Given the description of an element on the screen output the (x, y) to click on. 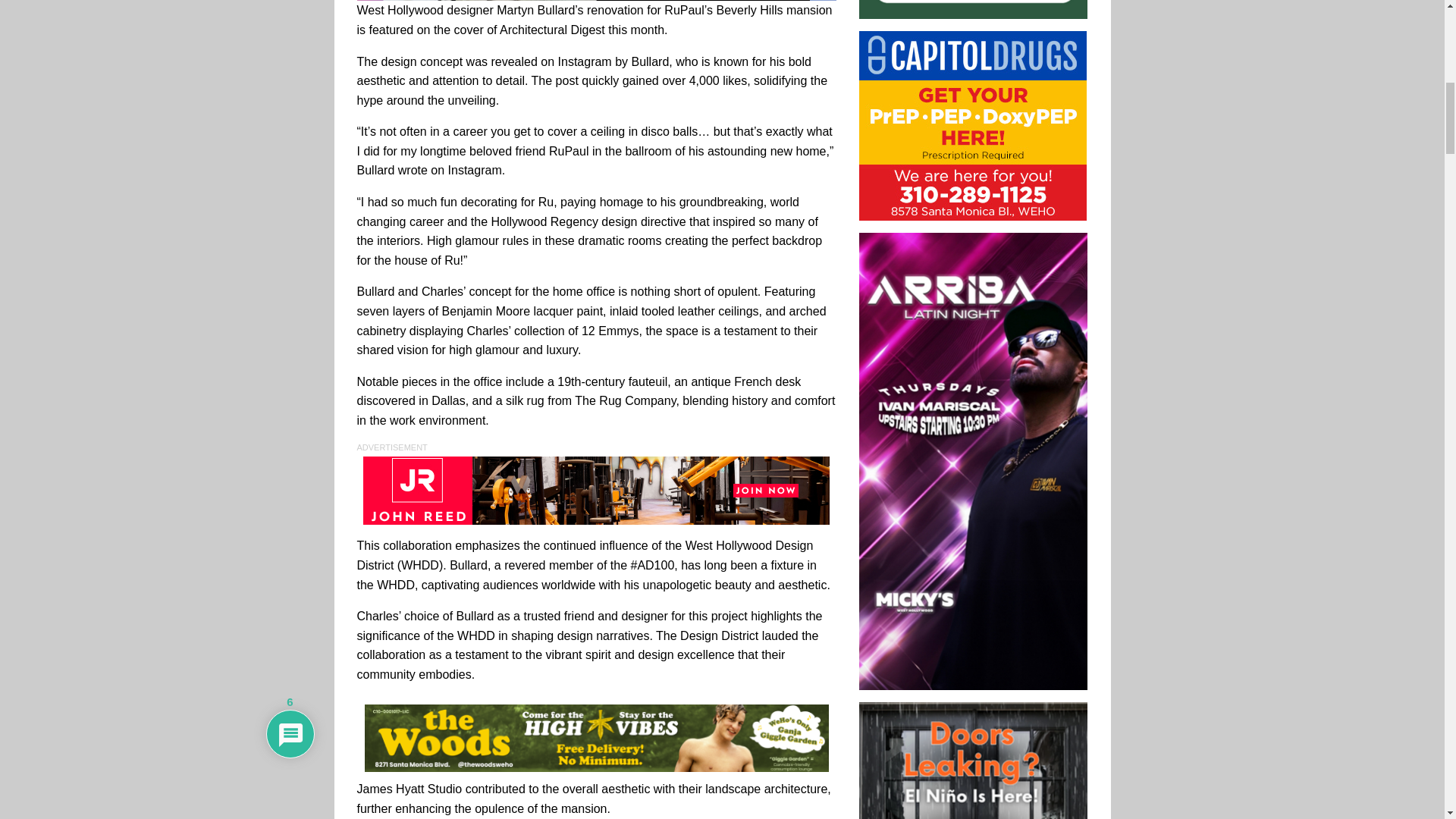
The Woods In-Story (596, 738)
